Given the description of an element on the screen output the (x, y) to click on. 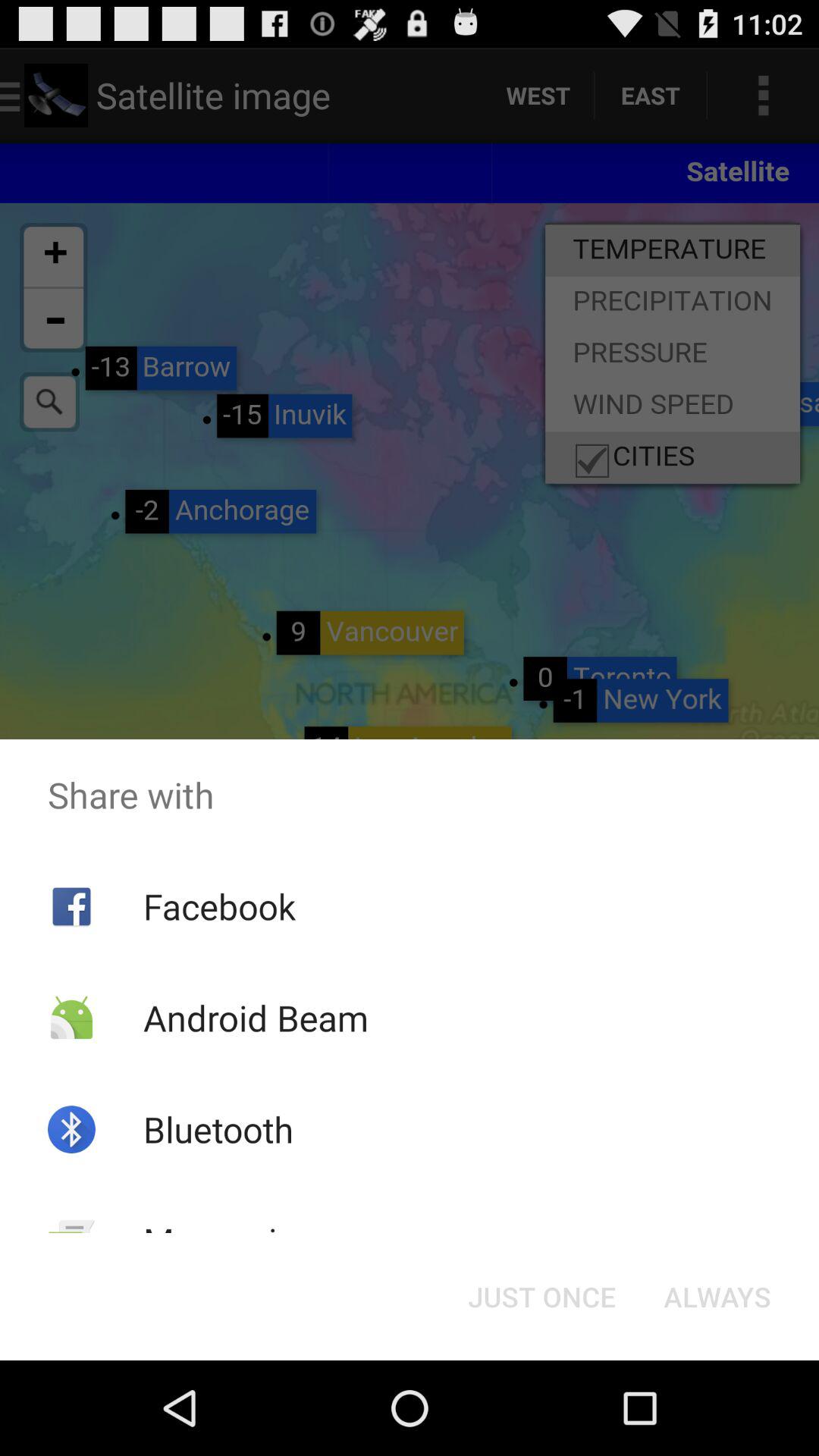
tap button next to just once button (717, 1296)
